Given the description of an element on the screen output the (x, y) to click on. 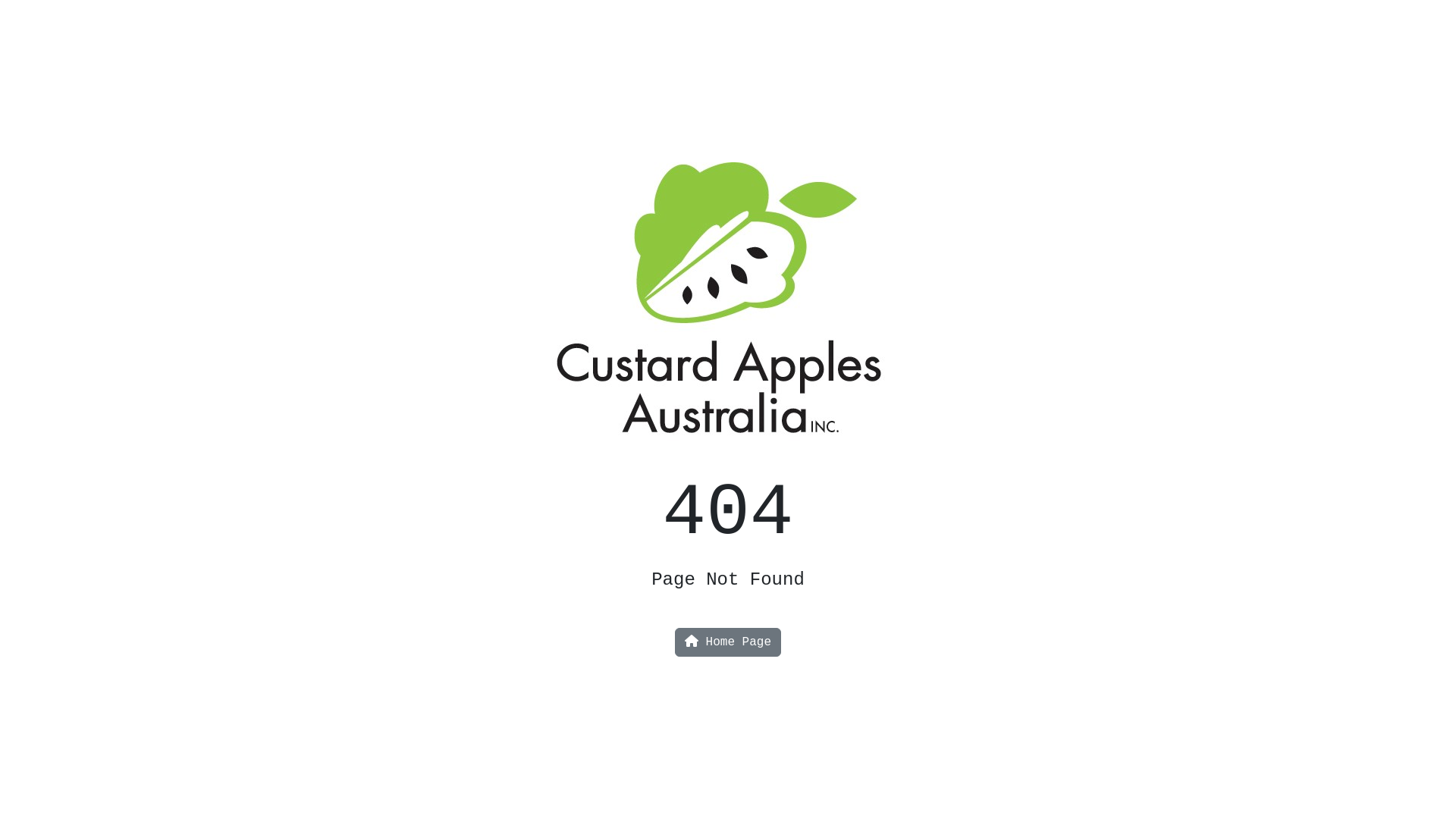
Home Page Element type: text (727, 641)
